Given the description of an element on the screen output the (x, y) to click on. 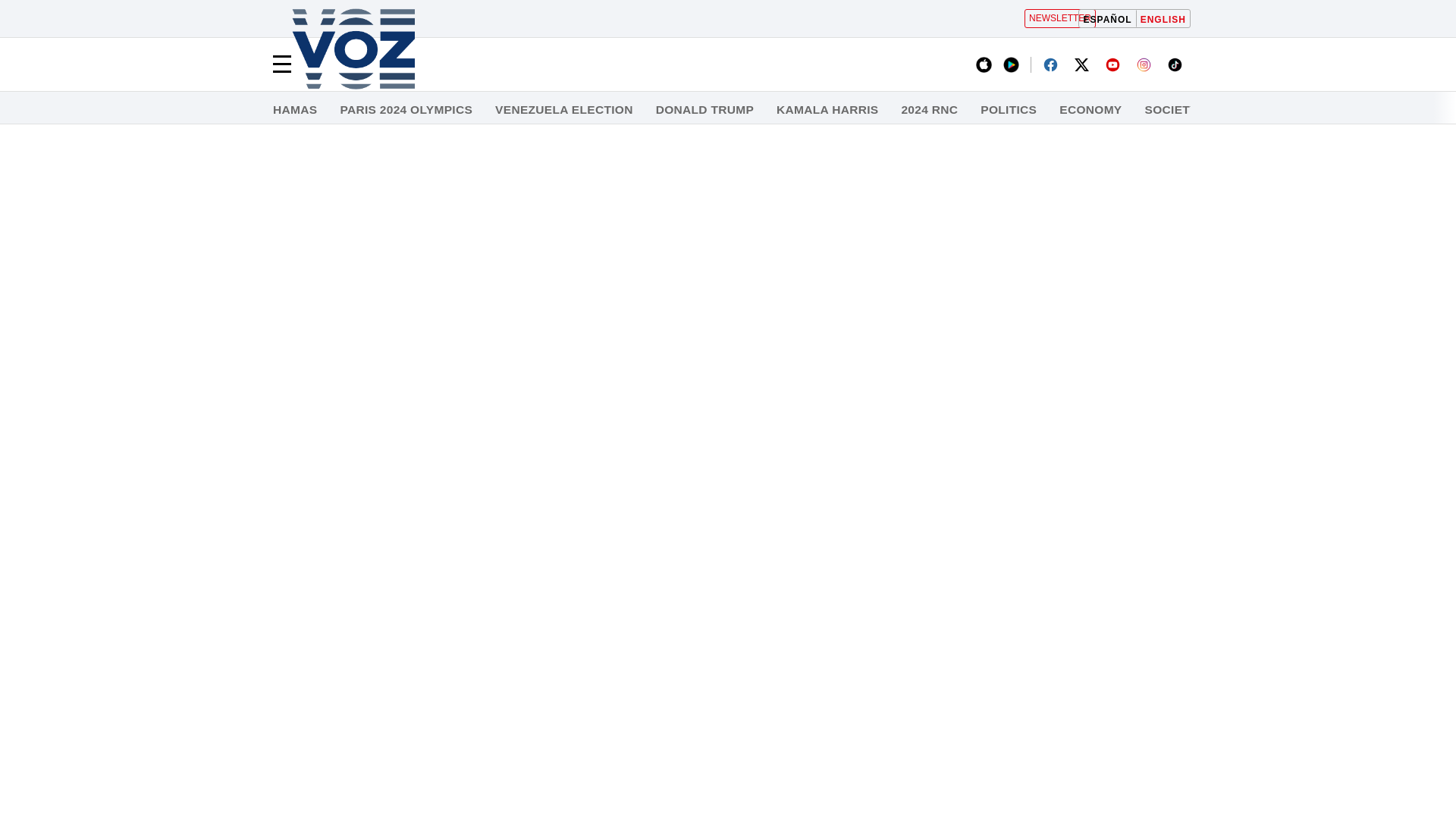
Donald Trump (705, 110)
NEWSLETTER (1060, 18)
Sports (1387, 110)
World (1316, 110)
DONALD TRUMP (705, 110)
PARIS 2024 OLYMPICS (405, 110)
ECONOMY (1090, 110)
Society (1171, 110)
KAMALA HARRIS (826, 110)
ENGLISH (1163, 18)
Politics (1007, 110)
Paris 2024 Olympics (405, 110)
2024 RNC (929, 110)
Voz.us (353, 50)
POLITICS (1007, 110)
